Given the description of an element on the screen output the (x, y) to click on. 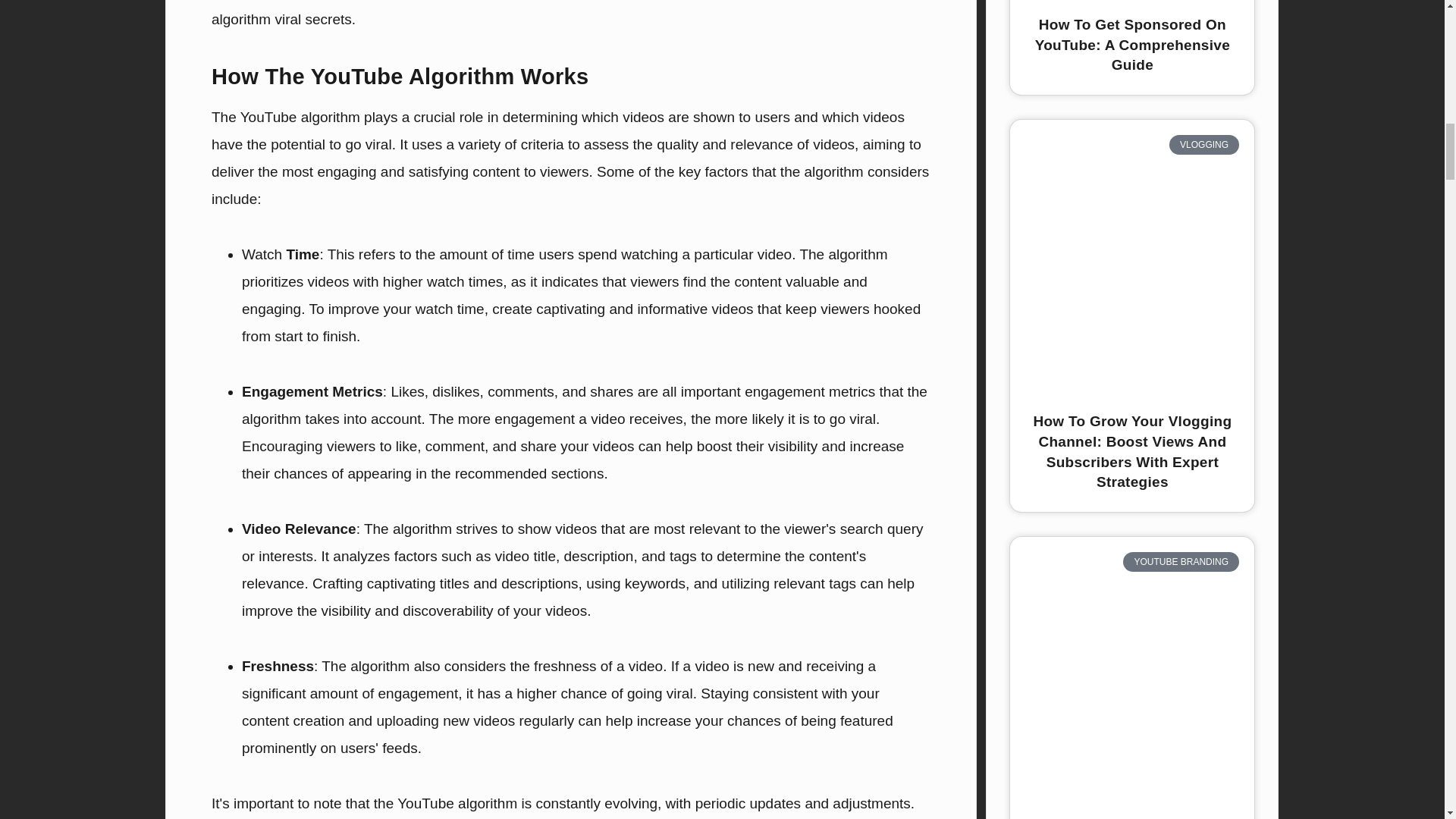
Watch (261, 254)
Watch (261, 254)
YouTube (268, 116)
How To Get Sponsored On YouTube: A Comprehensive Guide (1132, 44)
YouTube (268, 116)
